Given the description of an element on the screen output the (x, y) to click on. 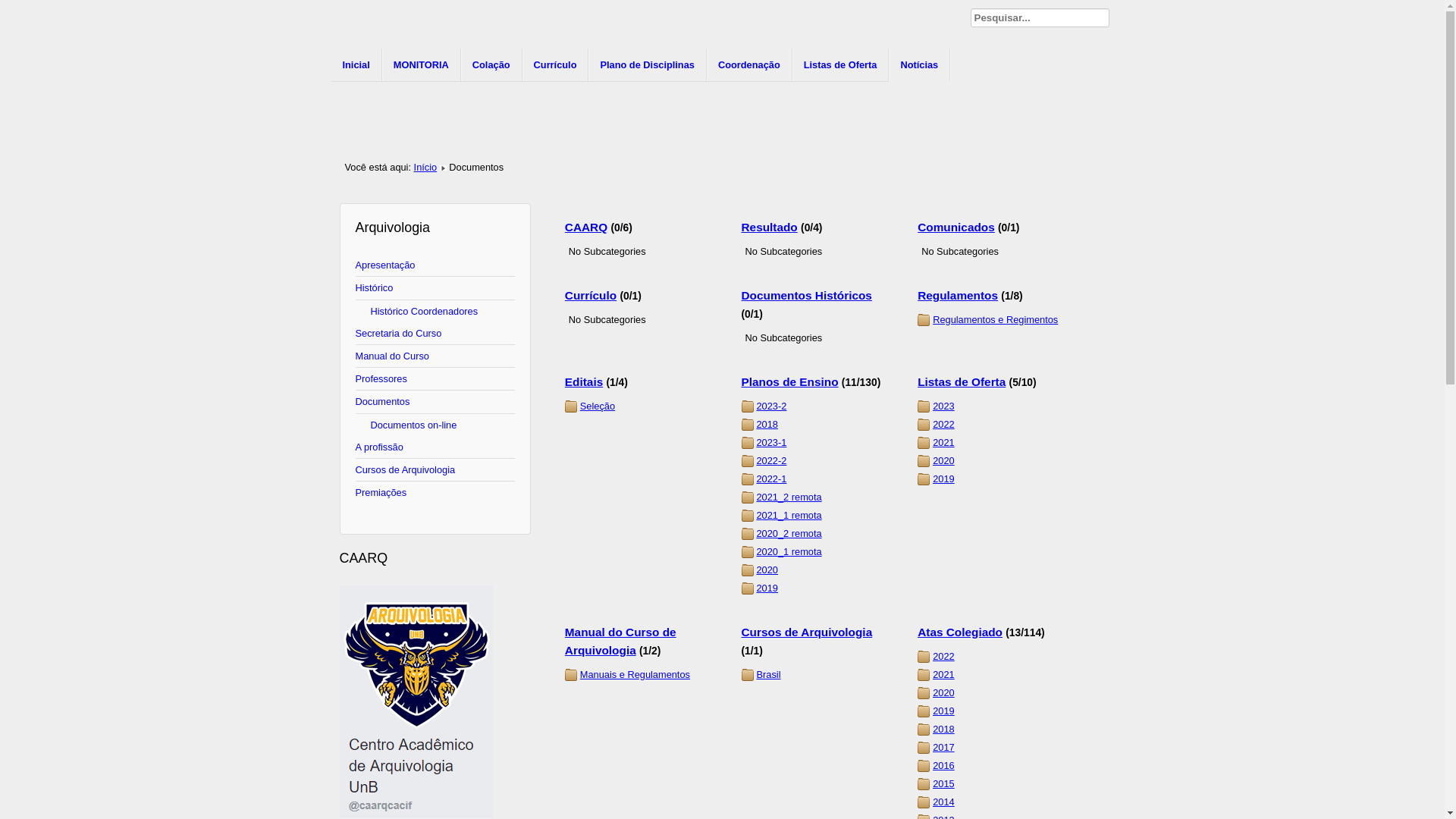
CAARQ Element type: text (585, 226)
2022-2 Element type: text (771, 460)
2018 Element type: text (942, 728)
2023 Element type: text (942, 405)
Comunicados Element type: text (955, 226)
2021 Element type: text (942, 674)
2017 Element type: text (942, 747)
2020 Element type: text (942, 692)
Planos de Ensino Element type: text (789, 381)
2023-2 Element type: text (771, 405)
Manuais e Regulamentos Element type: text (635, 674)
2021_1 remota Element type: text (789, 514)
Atas Colegiado Element type: text (959, 631)
2020_2 remota Element type: text (789, 533)
Manual do Curso de Arquivologia Element type: text (620, 640)
2020_1 remota Element type: text (789, 551)
2014 Element type: text (942, 801)
Regulamentos e Regimentos Element type: text (994, 319)
2023-1 Element type: text (771, 442)
2022 Element type: text (942, 423)
2016 Element type: text (942, 765)
Cursos de Arquivologia Element type: text (806, 631)
Resultado Element type: text (769, 226)
Regulamentos Element type: text (957, 294)
Secretaria do Curso Element type: text (434, 333)
Brasil Element type: text (768, 674)
2020 Element type: text (942, 460)
2021_2 remota Element type: text (789, 496)
Inicial Element type: text (355, 64)
Listas de Oferta Element type: text (840, 64)
2022 Element type: text (942, 656)
MONITORIA Element type: text (421, 64)
2020 Element type: text (767, 569)
2019 Element type: text (942, 478)
2021 Element type: text (942, 442)
Professores Element type: text (434, 378)
Listas de Oferta Element type: text (961, 381)
Editais Element type: text (583, 381)
2022-1 Element type: text (771, 478)
2015 Element type: text (942, 783)
Documentos Element type: text (434, 401)
Plano de Disciplinas Element type: text (647, 64)
2018 Element type: text (767, 423)
2019 Element type: text (767, 587)
Manual do Curso Element type: text (434, 356)
2019 Element type: text (942, 710)
Cursos de Arquivologia Element type: text (434, 469)
Documentos on-line Element type: text (434, 425)
